Given the description of an element on the screen output the (x, y) to click on. 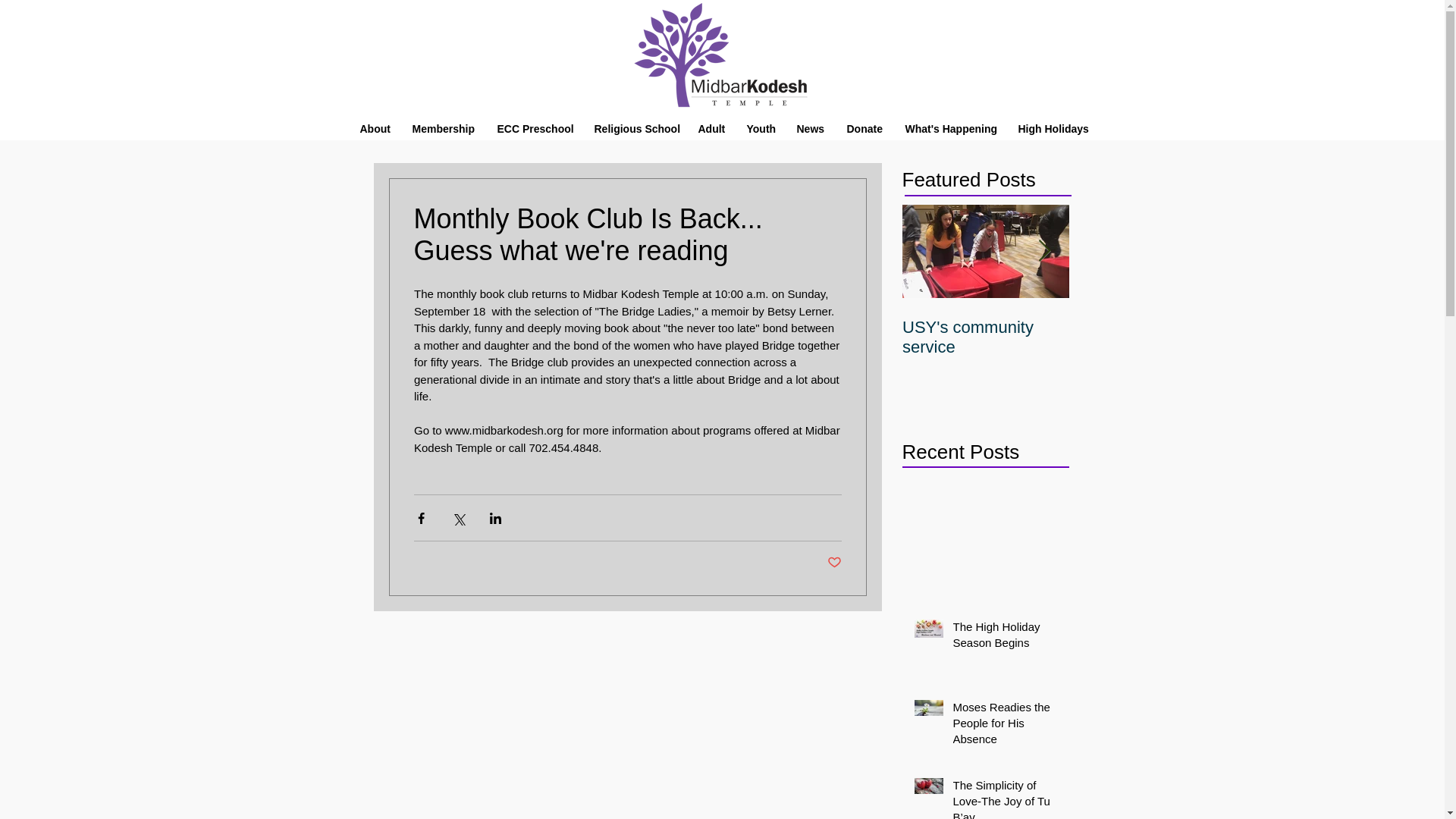
Donate (863, 128)
USY's community service (985, 337)
What's Happening (949, 128)
News (809, 128)
Membership (442, 128)
The High Holiday Season Begins (1006, 637)
Adult (709, 128)
Post not marked as liked (834, 562)
High Holidays (1051, 128)
Moses Readies the People for His Absence (1006, 725)
